Given the description of an element on the screen output the (x, y) to click on. 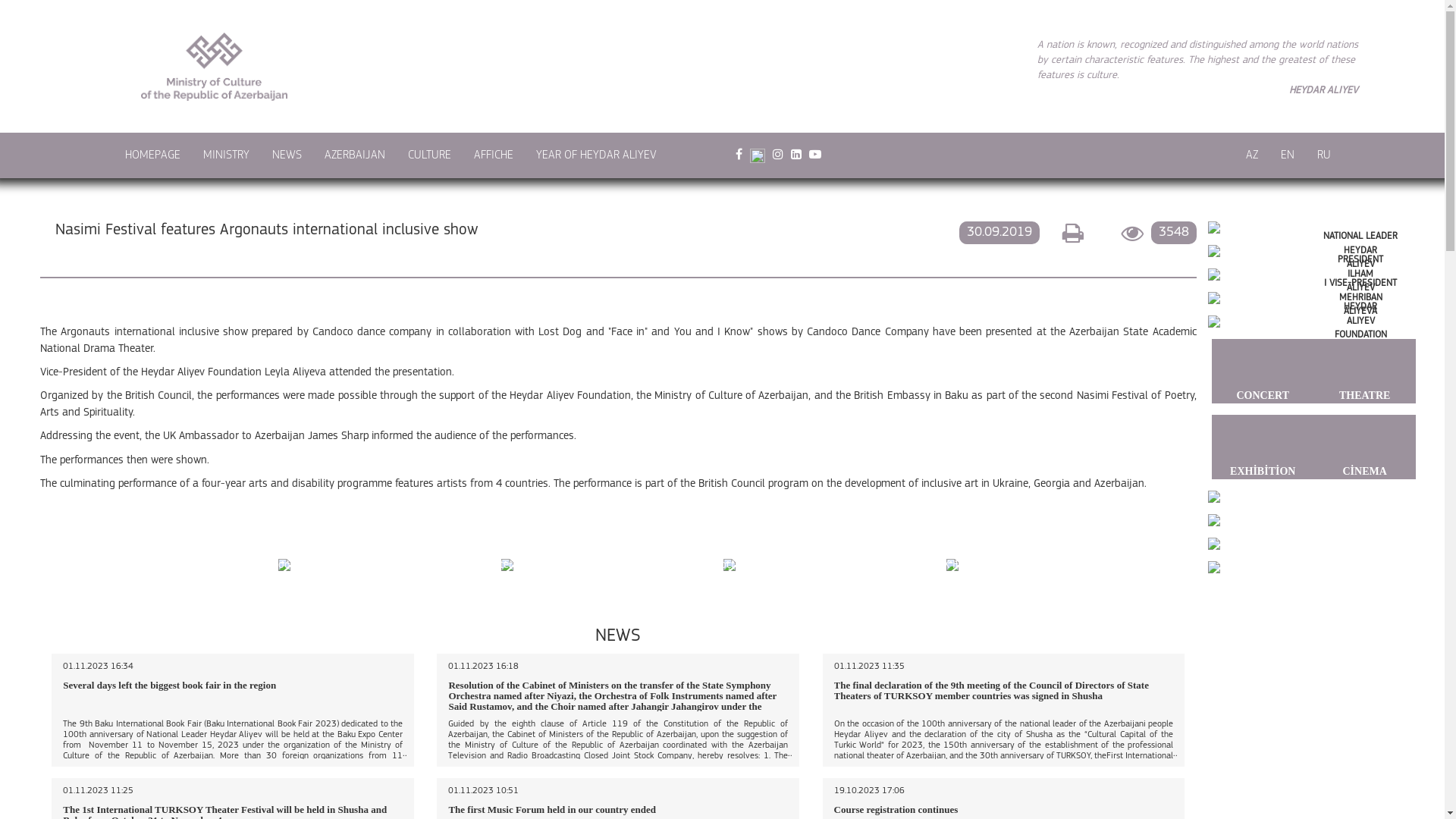
RU Element type: text (1323, 155)
AZERBAIJAN Element type: text (354, 155)
NATIONAL LEADER
HEYDAR
ALIYEV Element type: text (1311, 250)
I VISE-PRESIDENT
MEHRIBAN
ALIYEVA Element type: text (1311, 297)
HOMEPAGE Element type: text (152, 155)
THEATRE Element type: text (1364, 370)
HEYDAR
ALIYEV
FOUNDATION Element type: text (1311, 321)
NEWS Element type: text (617, 636)
MINISTRY Element type: text (225, 155)
PRESIDENT
ILHAM
ALIYEV Element type: text (1311, 274)
AFFICHE Element type: text (493, 155)
CULTURE Element type: text (429, 155)
EN Element type: text (1287, 155)
NEWS Element type: text (286, 155)
AZ Element type: text (1251, 155)
YEAR OF HEYDAR ALIYEV Element type: text (596, 155)
CONCERT Element type: text (1262, 370)
